Given the description of an element on the screen output the (x, y) to click on. 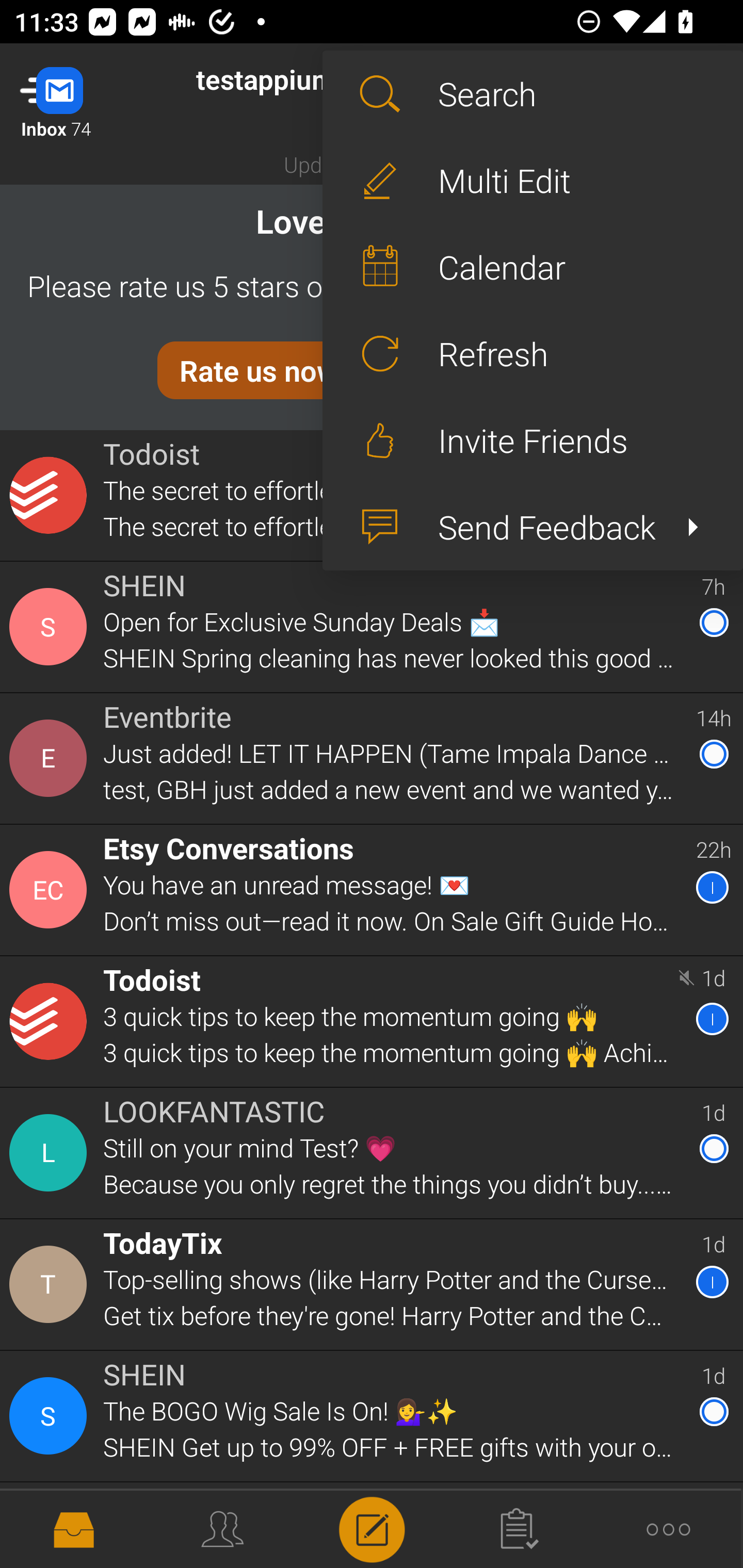
Search (532, 93)
Multi Edit (532, 180)
Calendar (532, 267)
Refresh (532, 353)
Invite Friends (532, 440)
Send Feedback (532, 527)
